Given the description of an element on the screen output the (x, y) to click on. 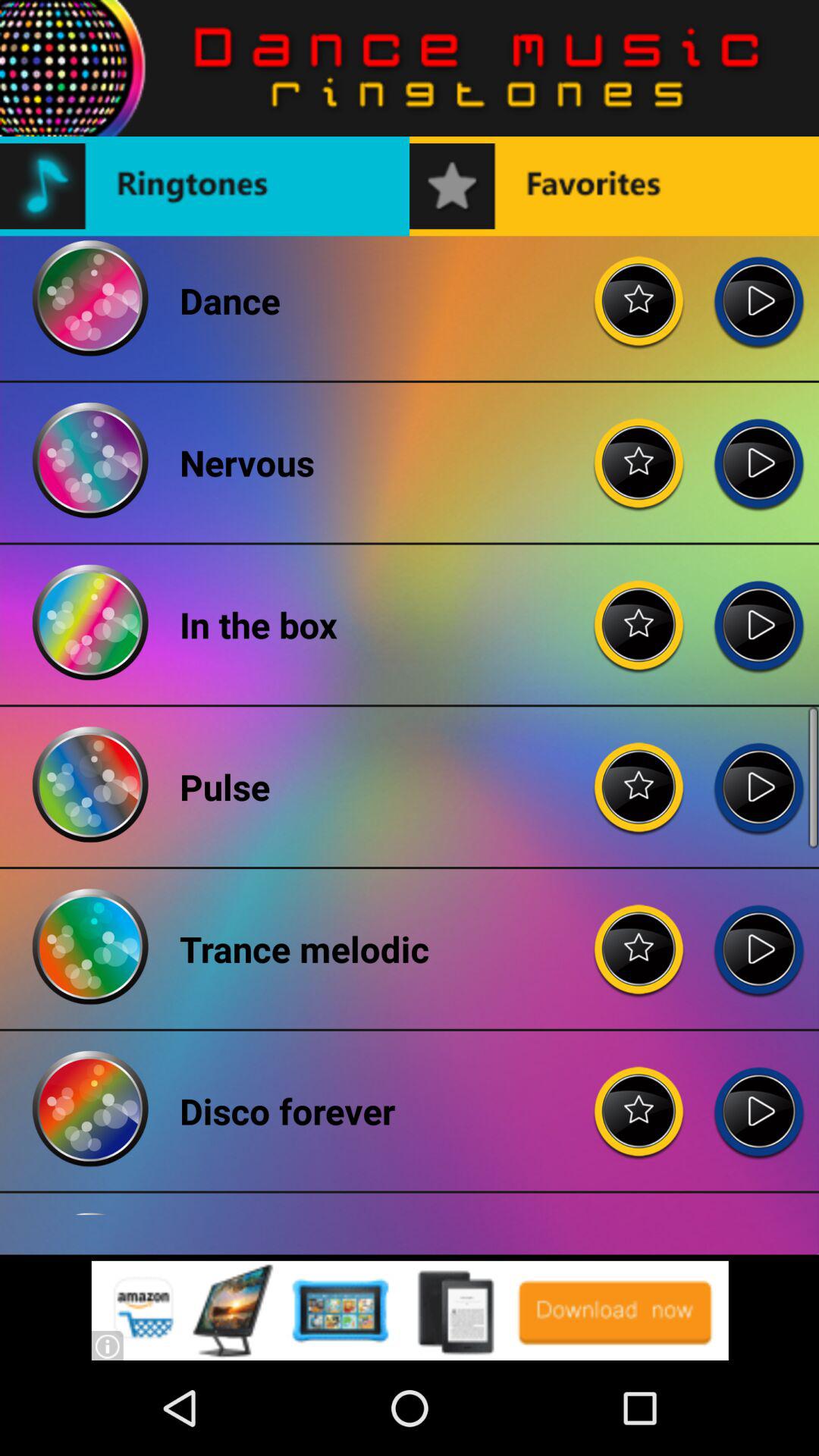
click the ratting (639, 775)
